Given the description of an element on the screen output the (x, y) to click on. 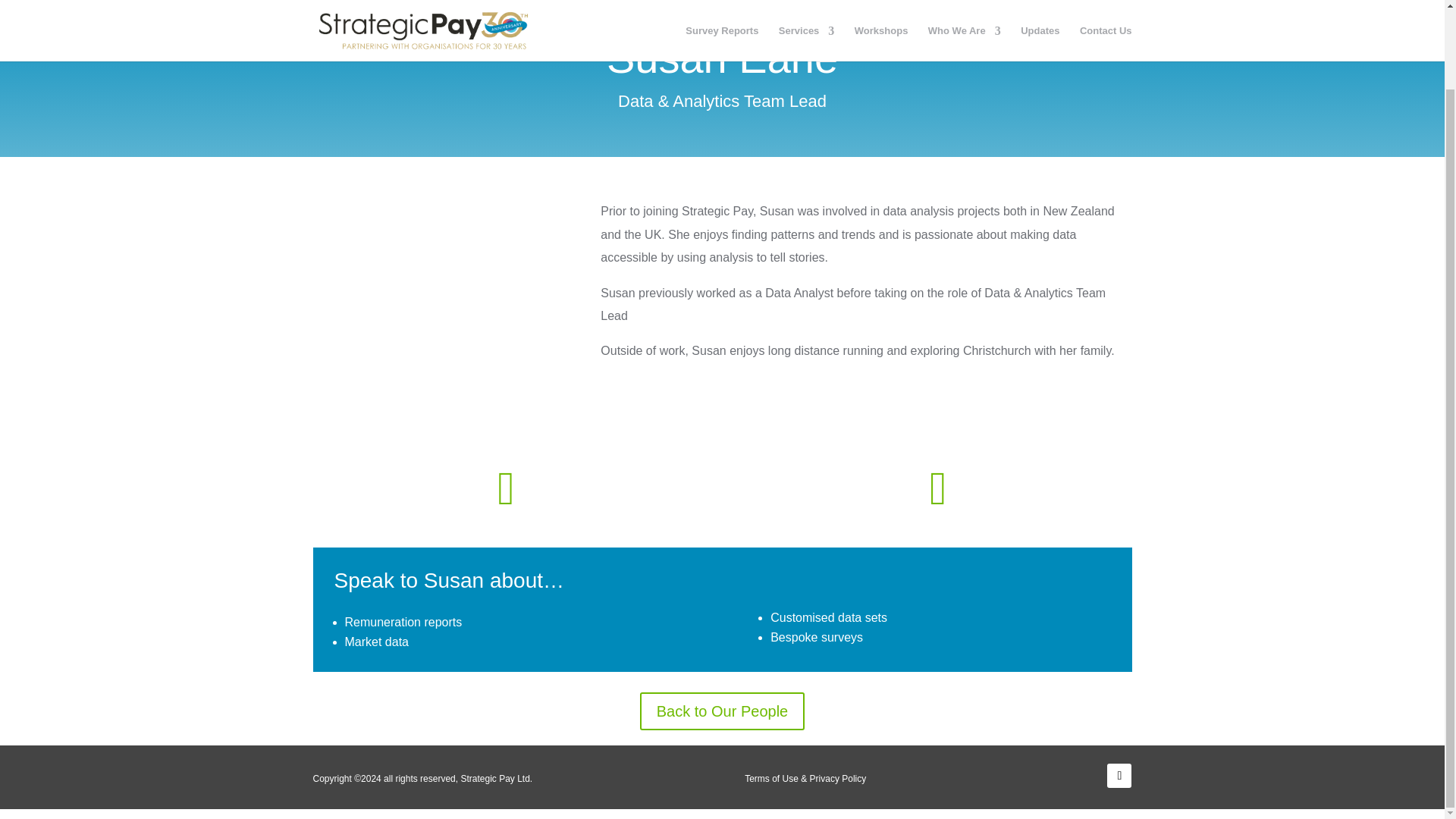
Back to Our People (722, 711)
Follow on LinkedIn (1118, 775)
wpforms-submit (655, 461)
